Given the description of an element on the screen output the (x, y) to click on. 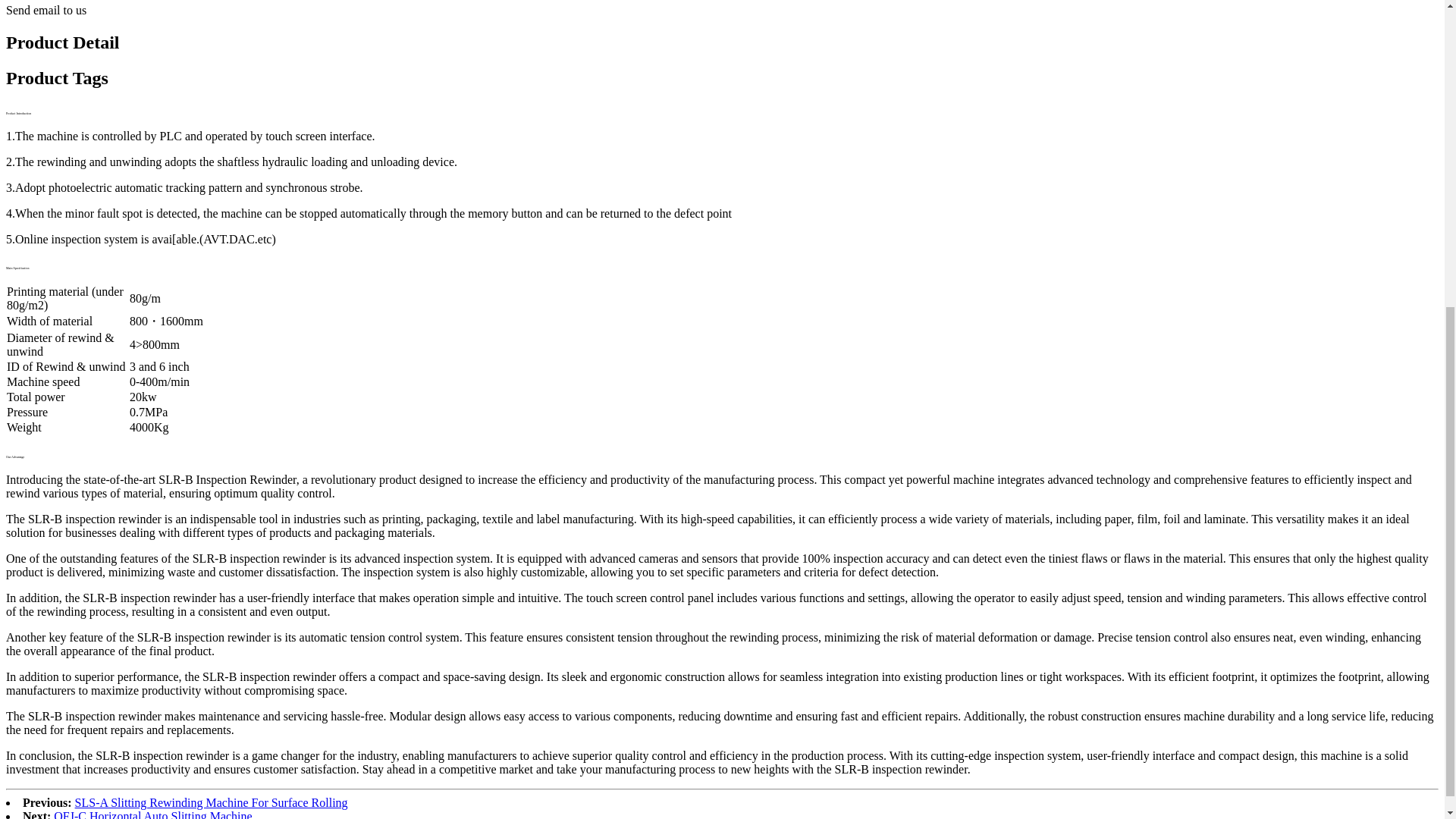
Send email to us (45, 10)
SLS-A Slitting Rewinding Machine For Surface Rolling (211, 802)
